Given the description of an element on the screen output the (x, y) to click on. 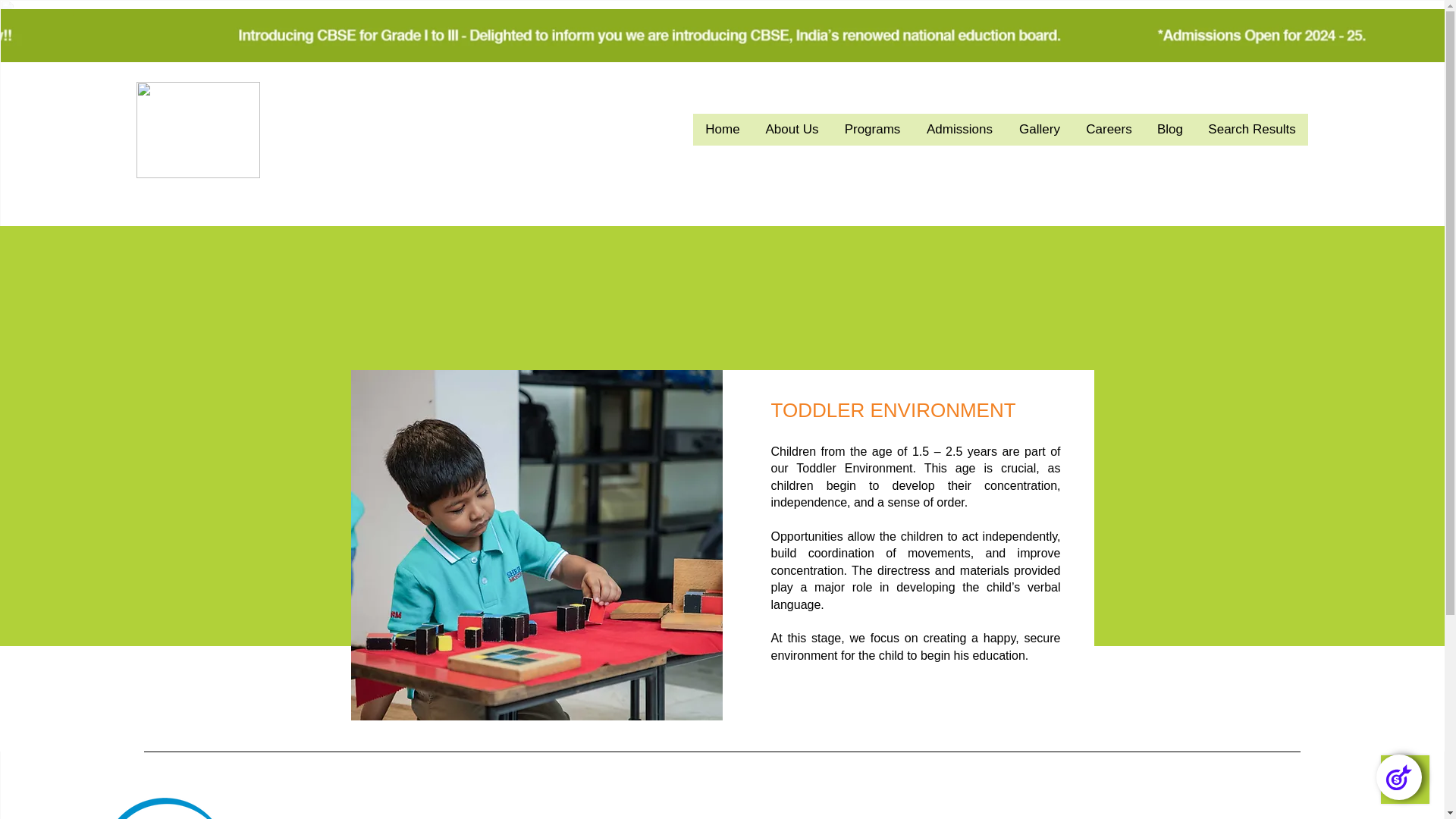
SHRIRAM MONTESSORI LOGO FINAL-01 copy.pn (191, 808)
Search Results (1251, 129)
Careers (1108, 129)
Gallery (1039, 129)
Blog (1169, 129)
SHRIRAM MONTESSORI LOGO FINAL-01 copy.pn (198, 129)
Home (722, 129)
Admissions (959, 129)
